Given the description of an element on the screen output the (x, y) to click on. 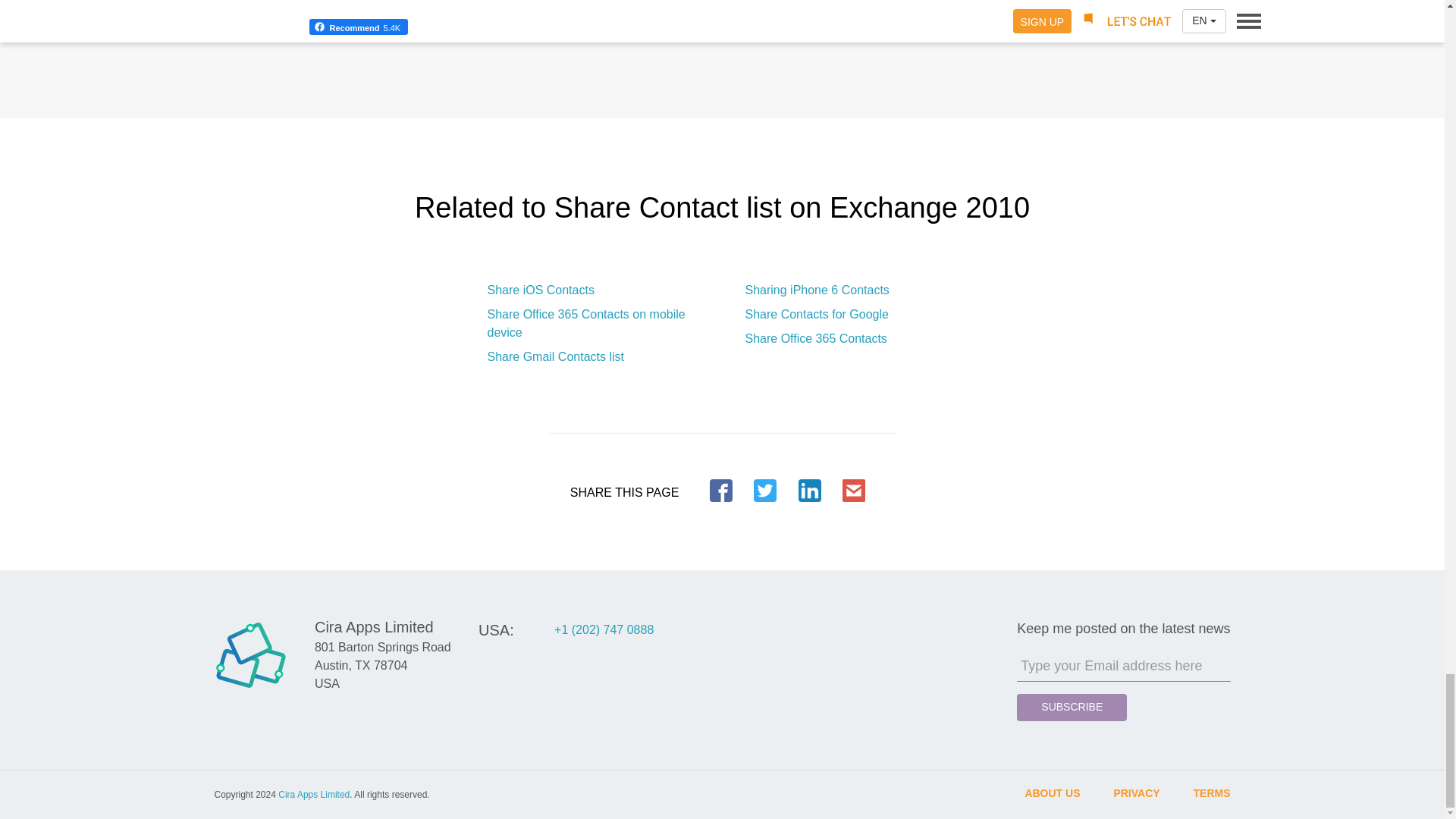
Sharing iPhone 6 Contacts (816, 289)
Share Gmail Contacts list (555, 356)
Share iOS Contacts (540, 289)
Share Contacts for Google (816, 314)
Share Office 365 Contacts (815, 338)
Share Office 365 Contacts on mobile device (592, 332)
